Given the description of an element on the screen output the (x, y) to click on. 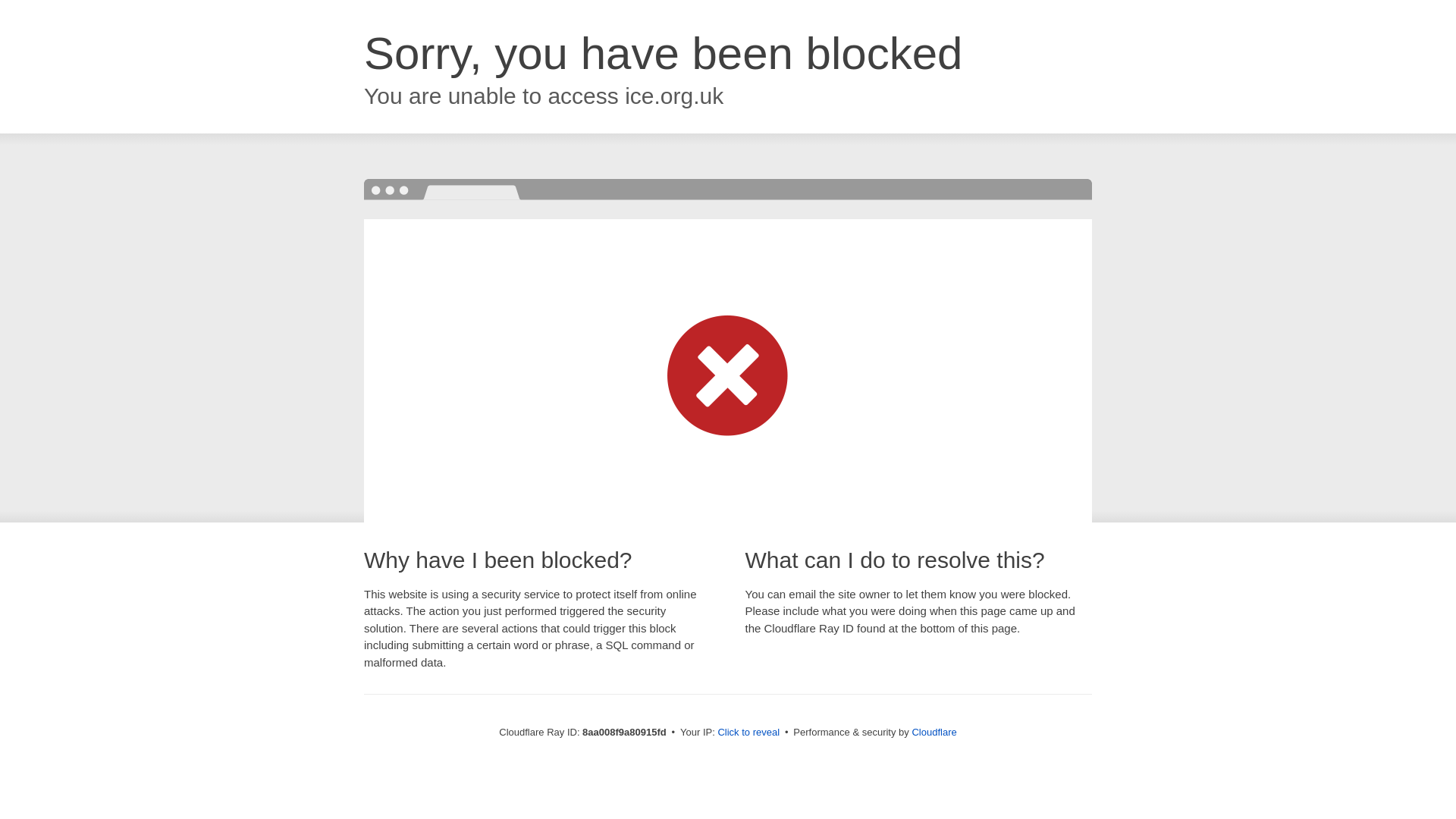
Click to reveal (747, 732)
Cloudflare (933, 731)
